Given the description of an element on the screen output the (x, y) to click on. 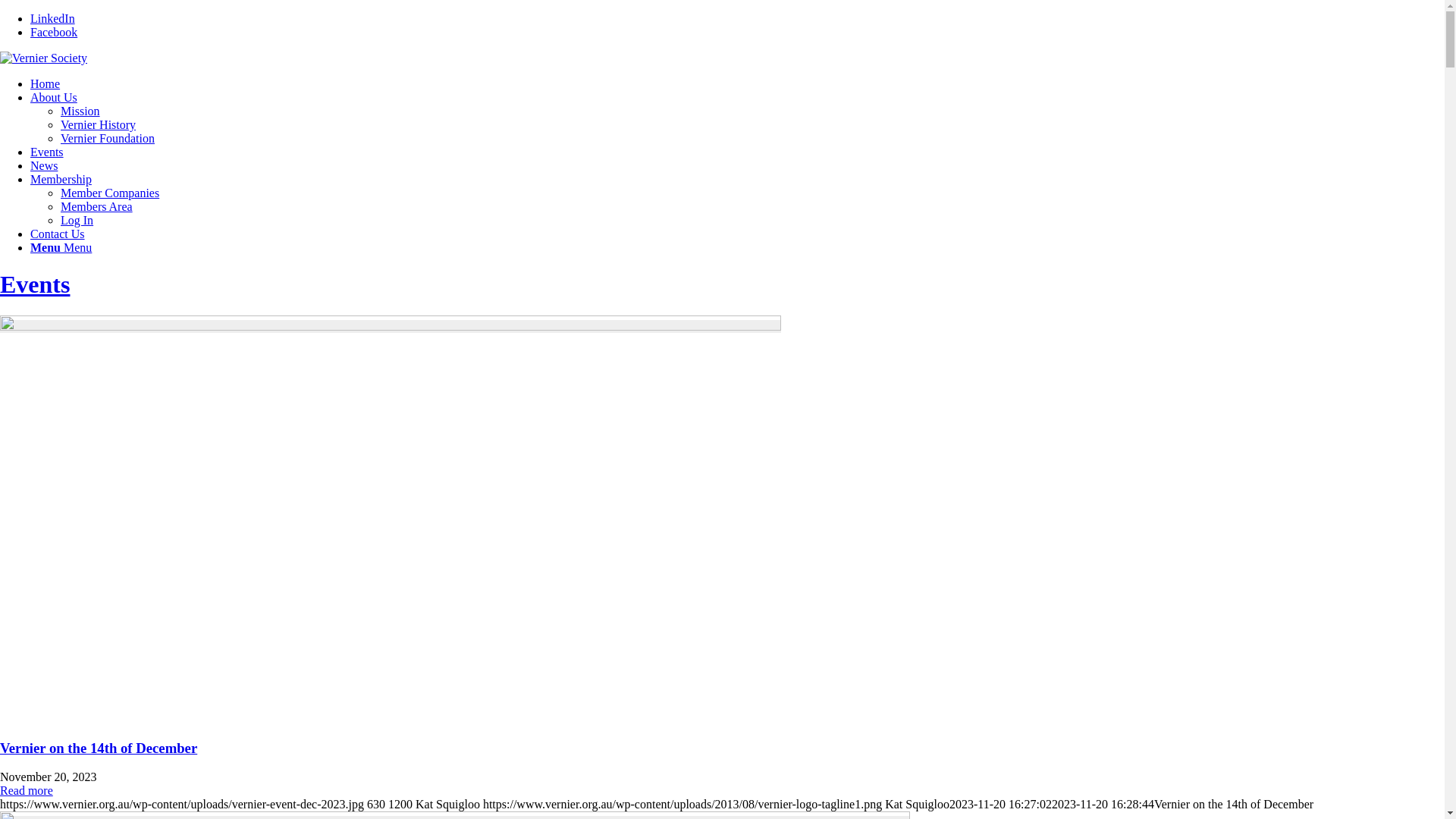
Menu Menu Element type: text (60, 247)
Read more Element type: text (26, 790)
Vernier on the 14th of December Element type: hover (390, 326)
Log In Element type: text (76, 219)
News Element type: text (43, 165)
Events Element type: text (46, 151)
Facebook Element type: text (53, 31)
Contact Us Element type: text (57, 233)
Home Element type: text (44, 83)
Mission Element type: text (80, 110)
Vernier Foundation Element type: text (107, 137)
Events Element type: text (34, 284)
Member Companies Element type: text (109, 192)
About Us Element type: text (53, 97)
Vernier on the 14th of December Element type: text (98, 748)
Vernier History Element type: text (97, 124)
Members Area Element type: text (96, 206)
Membership Element type: text (60, 178)
LinkedIn Element type: text (52, 18)
